Given the description of an element on the screen output the (x, y) to click on. 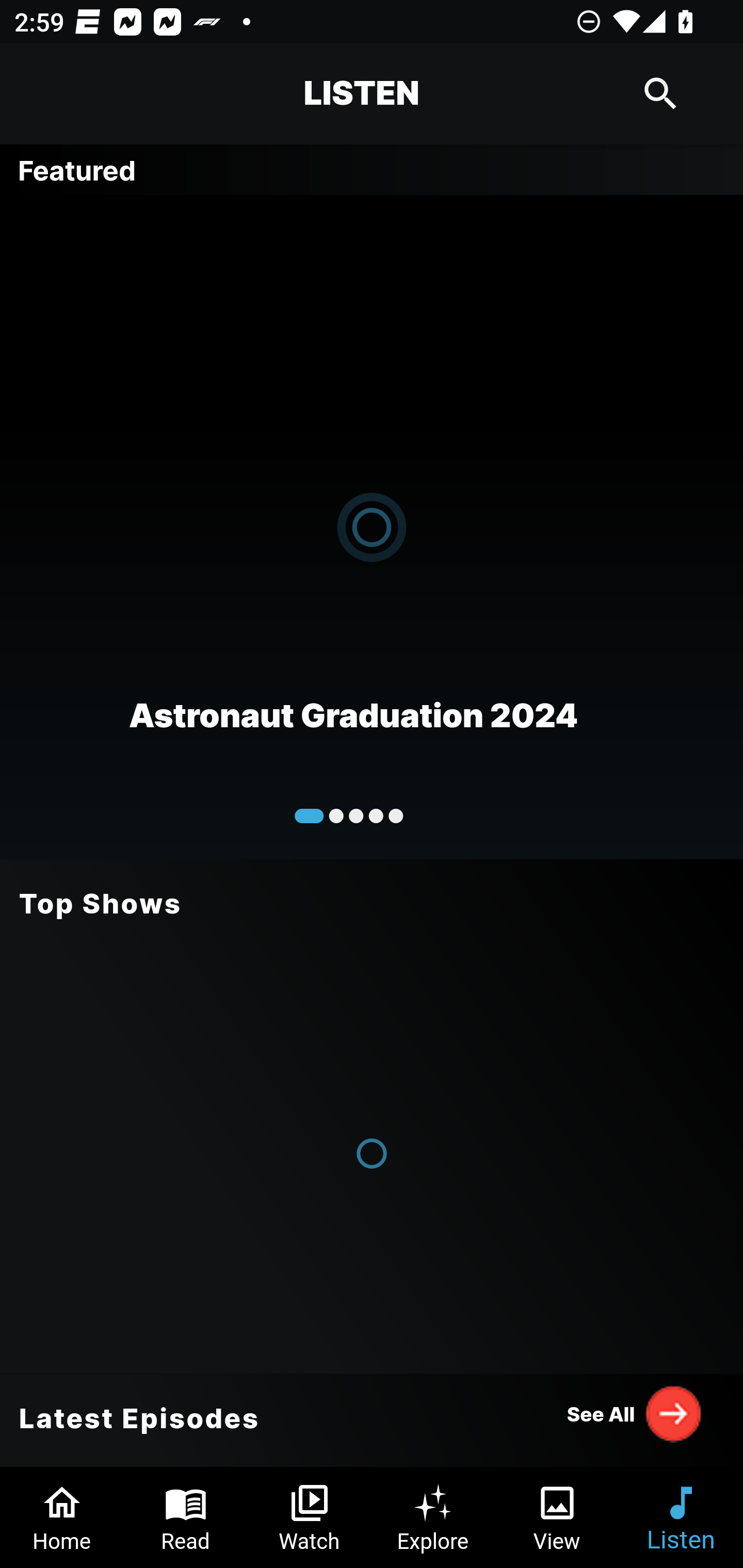
Astronaut Graduation 2024 (371, 526)
See All (634, 1413)
Home
Tab 1 of 6 (62, 1517)
Read
Tab 2 of 6 (185, 1517)
Watch
Tab 3 of 6 (309, 1517)
Explore
Tab 4 of 6 (433, 1517)
View
Tab 5 of 6 (556, 1517)
Listen
Tab 6 of 6 (680, 1517)
